Given the description of an element on the screen output the (x, y) to click on. 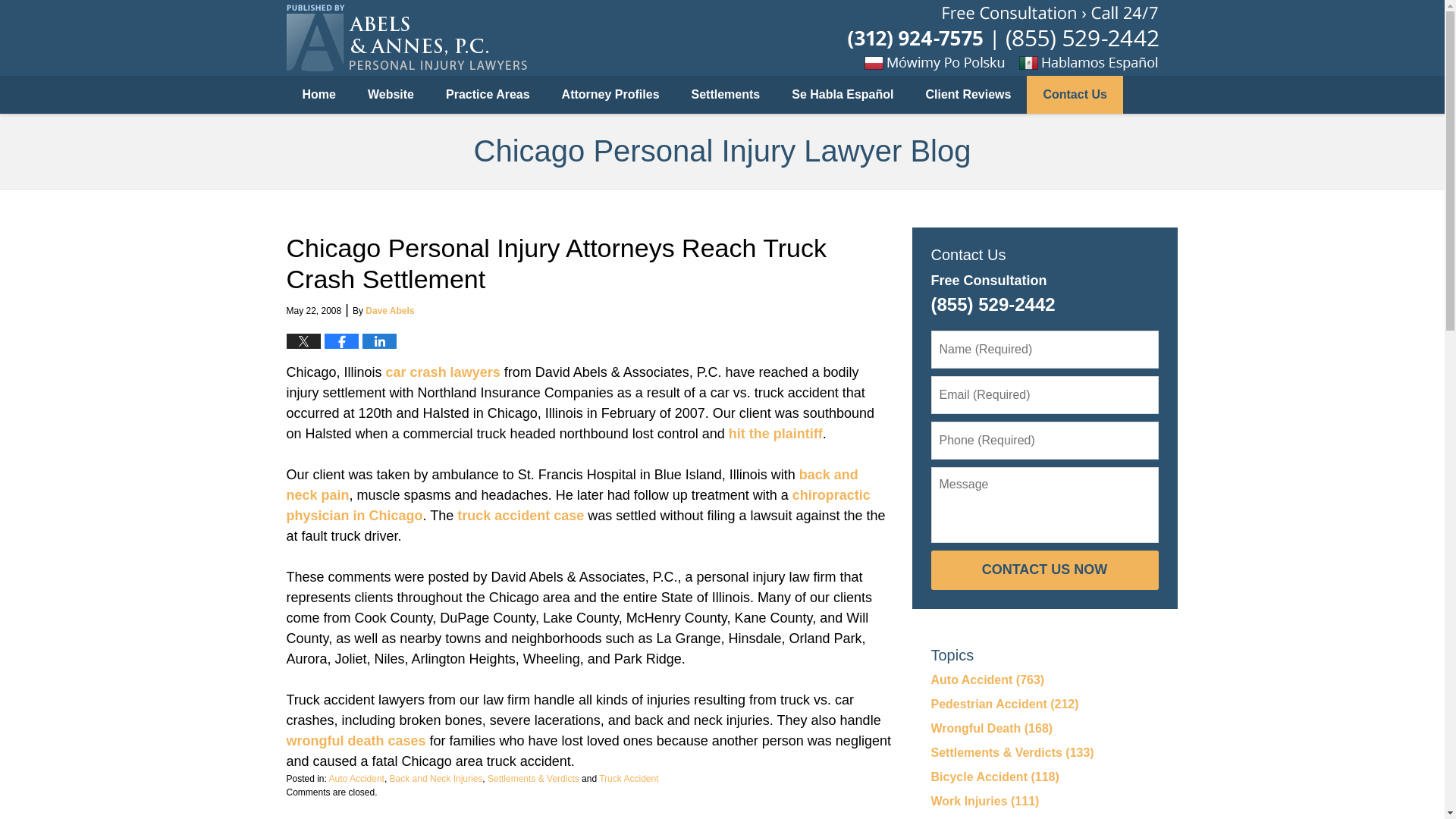
Contact Us (1074, 94)
Settlements (725, 94)
Practice Areas (487, 94)
View all posts in Back and Neck Injuries (436, 778)
Home (319, 94)
Client Reviews (968, 94)
Chicago Personal Injury Lawyer Blog (406, 37)
Dave Abels (389, 310)
Mowimy po polsku (945, 61)
View all posts in Auto Accident (356, 778)
